Given the description of an element on the screen output the (x, y) to click on. 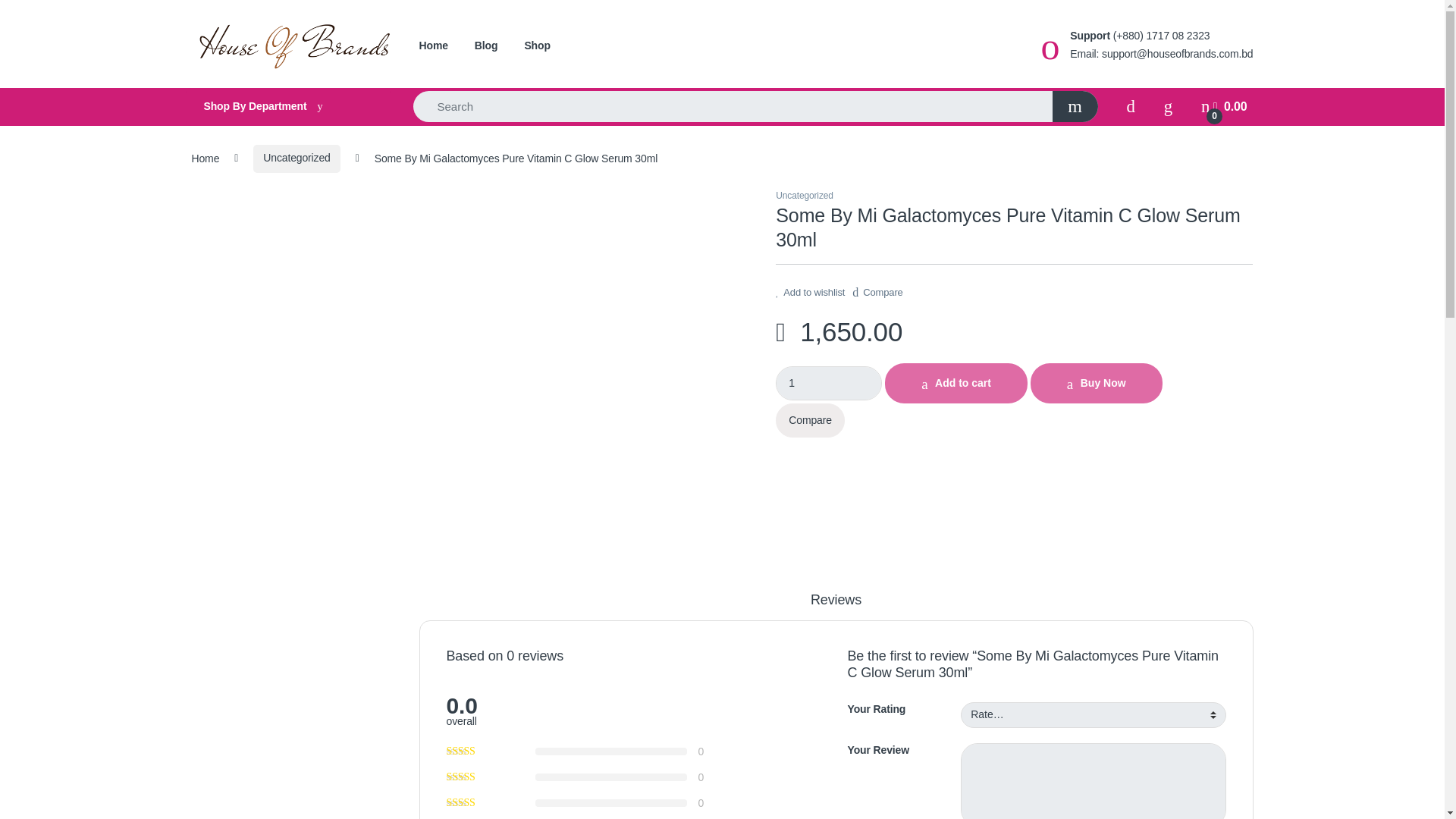
Buy Now (1095, 383)
Add to wishlist (810, 292)
Add to cart (956, 383)
Reviews (835, 605)
Shop By Department (287, 106)
1 (829, 383)
Uncategorized (296, 158)
Compare (810, 420)
Compare (876, 287)
Uncategorized (804, 195)
Home (204, 157)
